Given the description of an element on the screen output the (x, y) to click on. 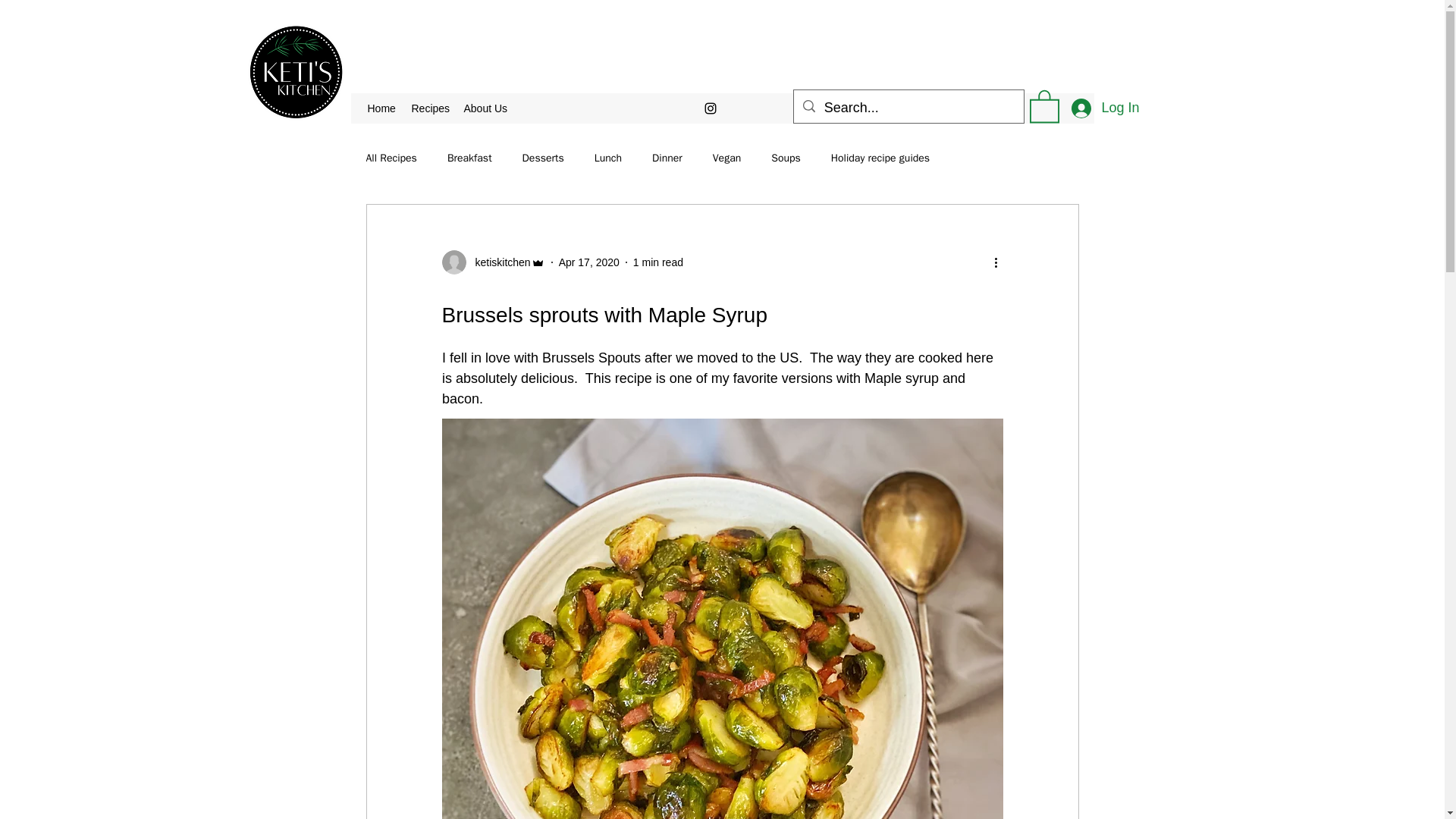
Recipes (429, 108)
Vegan (727, 158)
Soups (785, 158)
Holiday recipe guides (880, 158)
About Us (486, 108)
Lunch (607, 158)
Desserts (543, 158)
All Recipes (390, 158)
Breakfast (469, 158)
Apr 17, 2020 (589, 262)
